Given the description of an element on the screen output the (x, y) to click on. 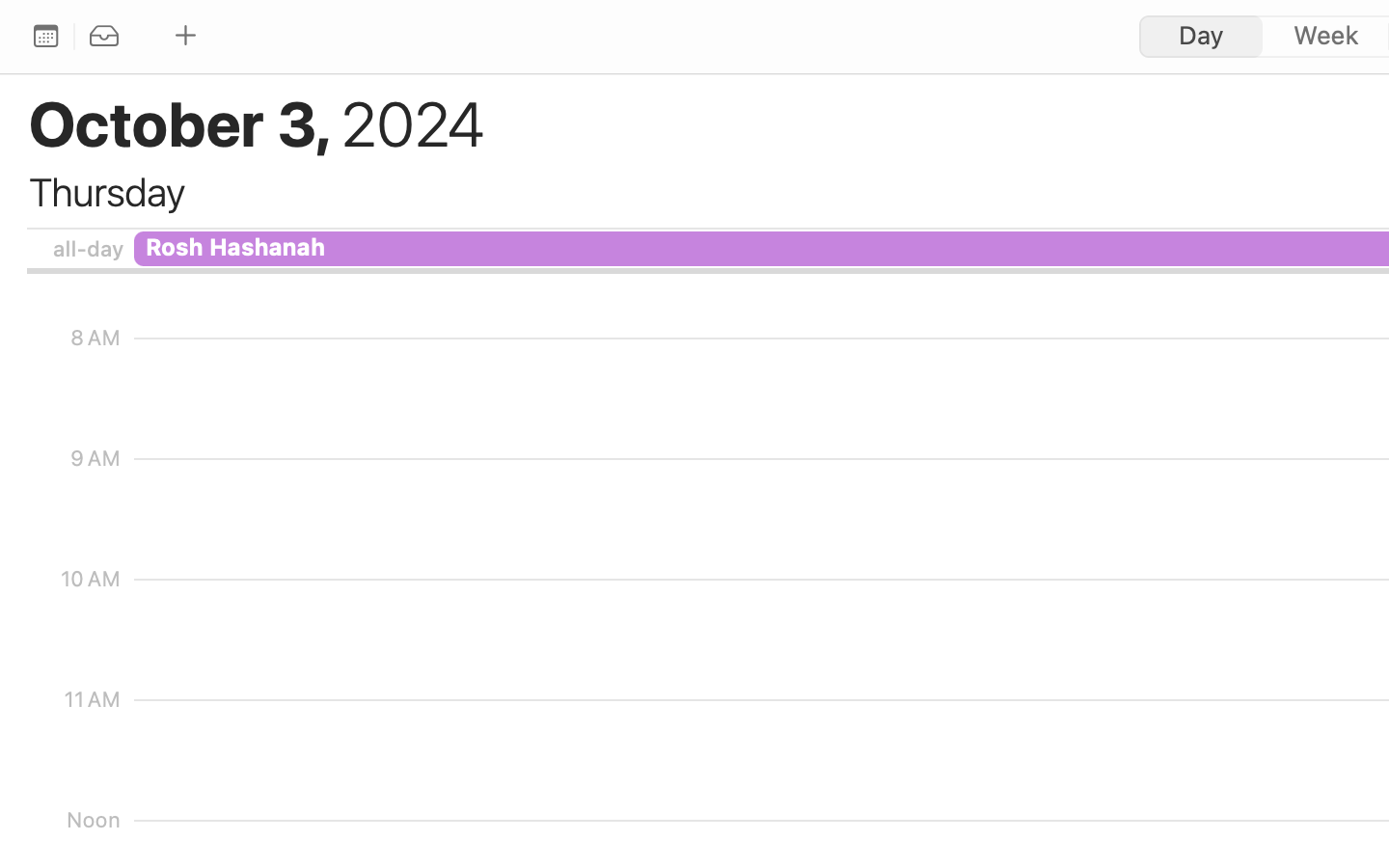
Thursday Element type: AXStaticText (107, 192)
